Given the description of an element on the screen output the (x, y) to click on. 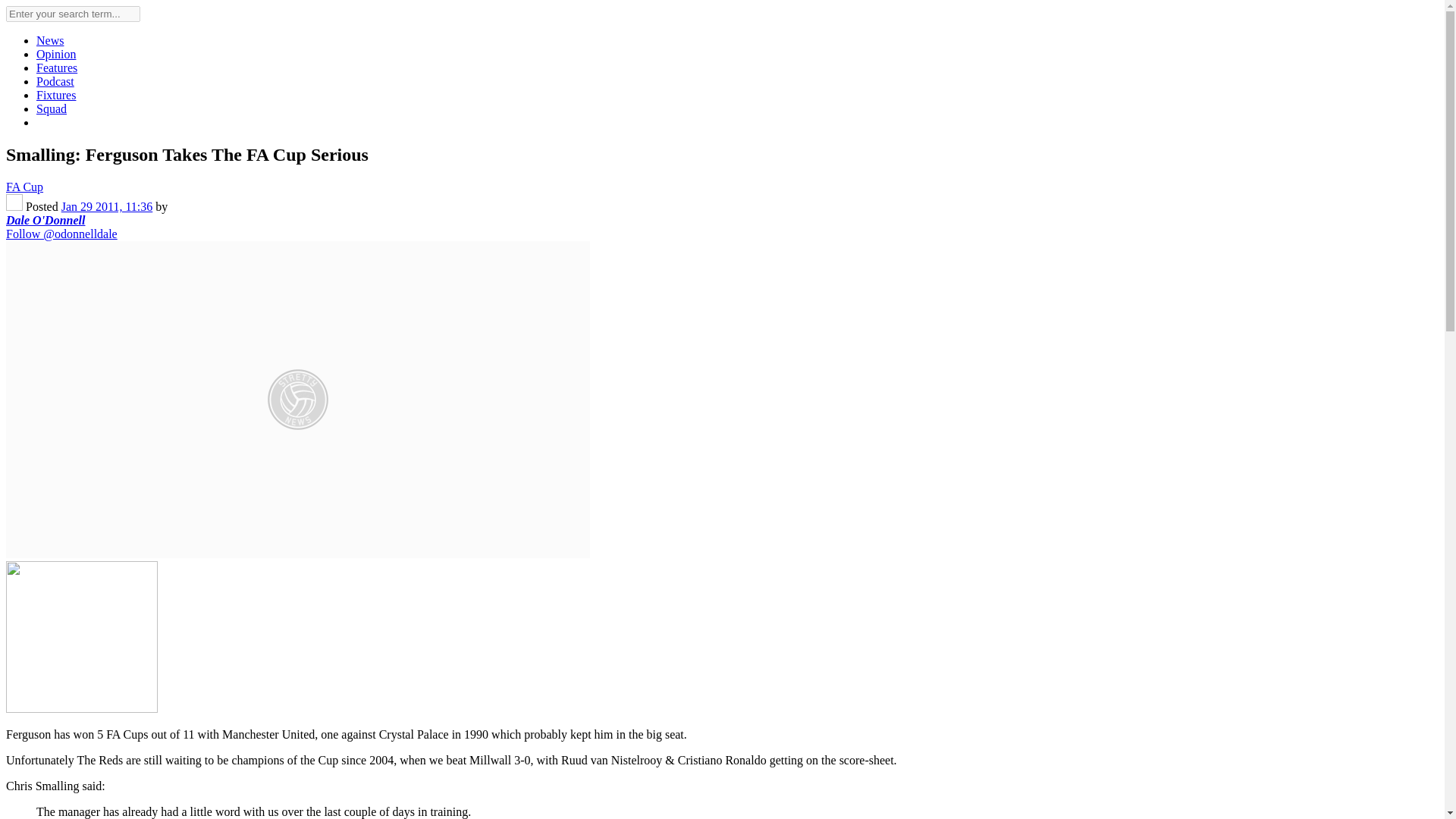
Fixtures (55, 94)
Jan 29 2011, 11:36 (106, 205)
Opinion (55, 53)
Features (56, 67)
FA Cup (24, 186)
Podcast (55, 81)
Squad (51, 108)
Dale O'Donnell (44, 219)
View more articles by Dale O'Donnell (44, 219)
View more articles by Dale O'Donnell (14, 205)
Latest FA Cup News (24, 186)
News (50, 40)
